Given the description of an element on the screen output the (x, y) to click on. 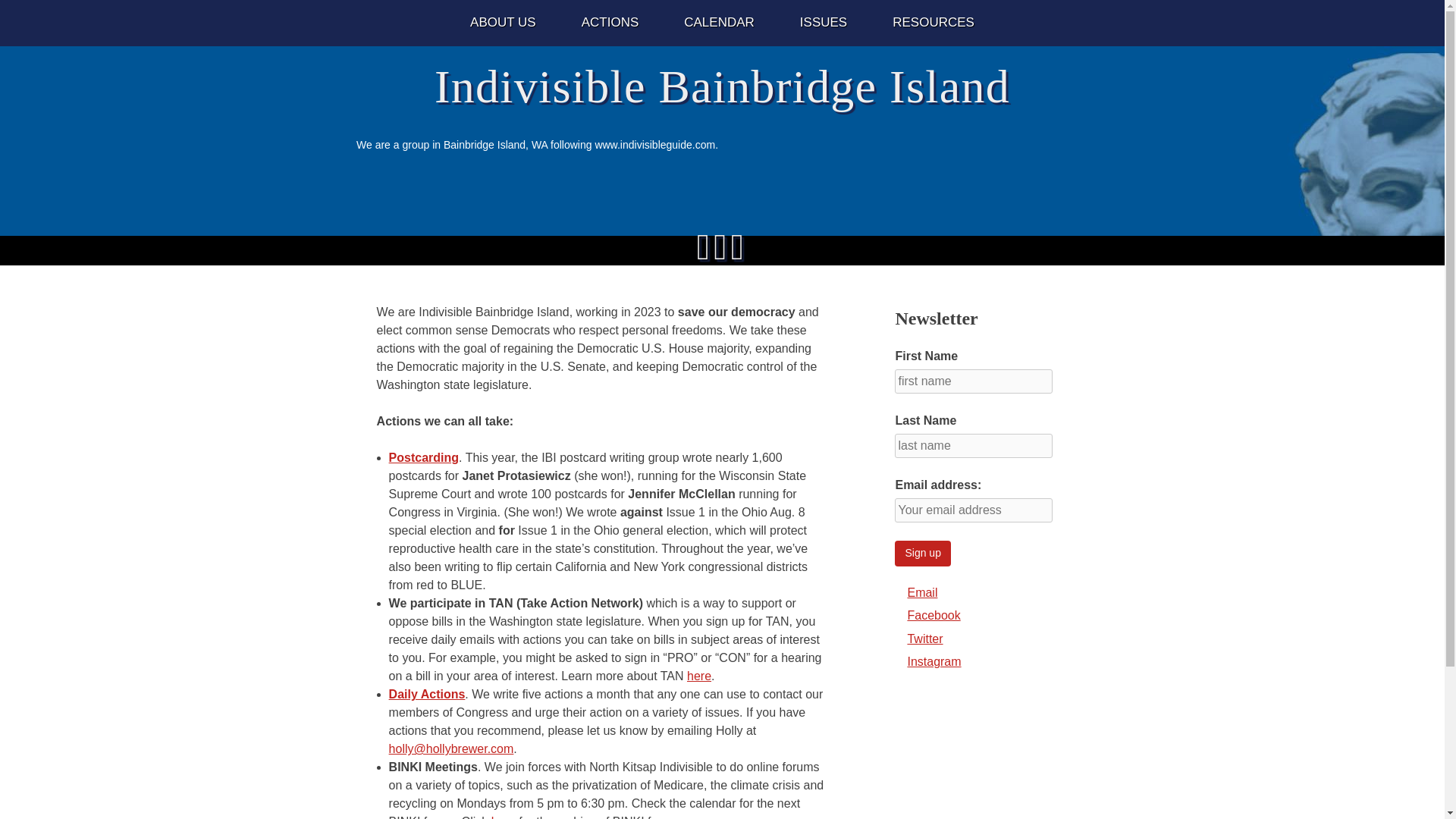
ACTIONS (610, 22)
Sign up (922, 553)
Postcarding (423, 457)
here (699, 675)
Facebook (933, 615)
RESOURCES (933, 22)
ISSUES (823, 22)
CALENDAR (719, 22)
ABOUT US (502, 22)
Sign up (922, 553)
Daily Actions (426, 694)
here (503, 816)
Twitter (924, 638)
Email (922, 592)
